Given the description of an element on the screen output the (x, y) to click on. 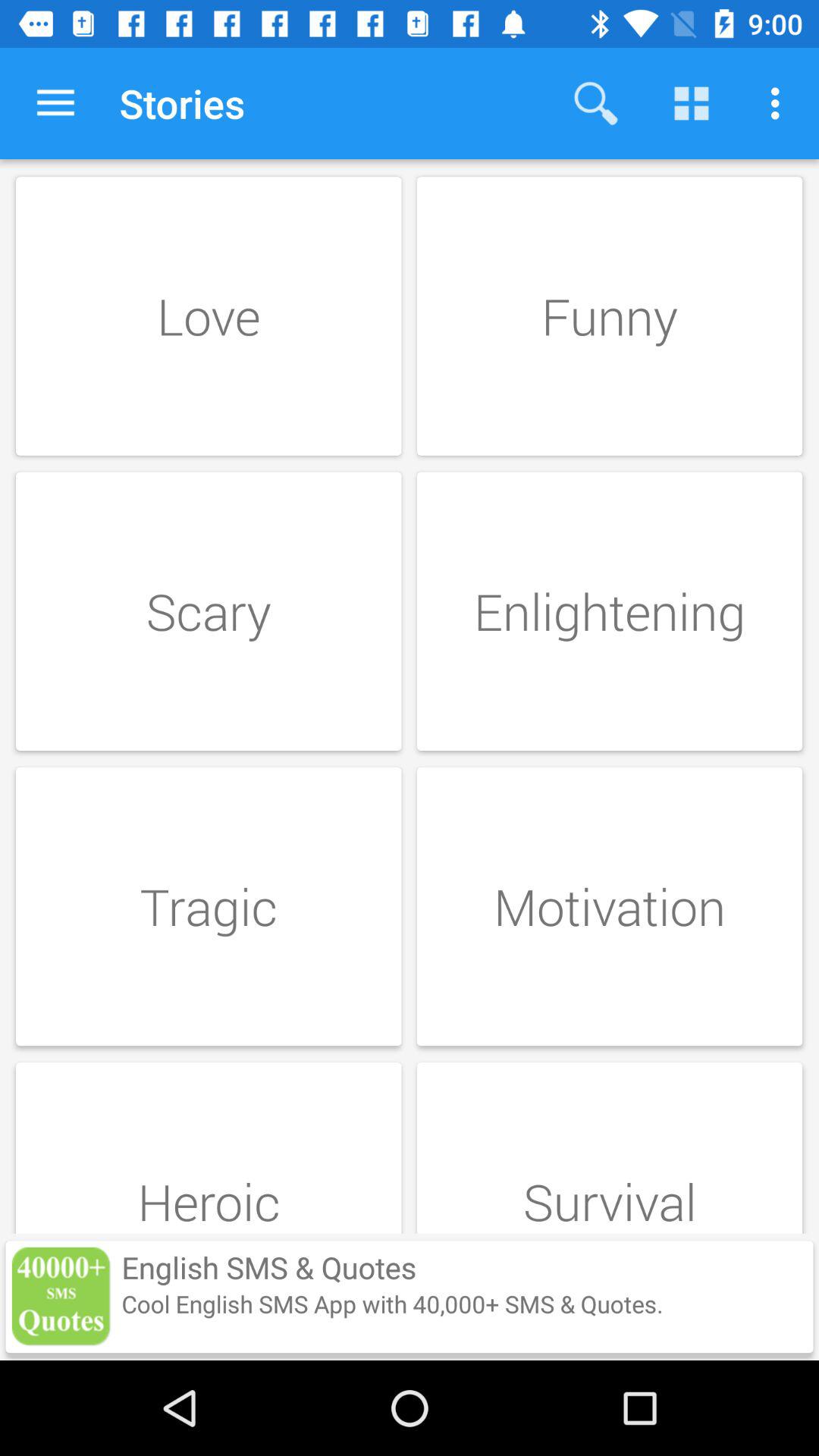
select item next to stories item (55, 103)
